Given the description of an element on the screen output the (x, y) to click on. 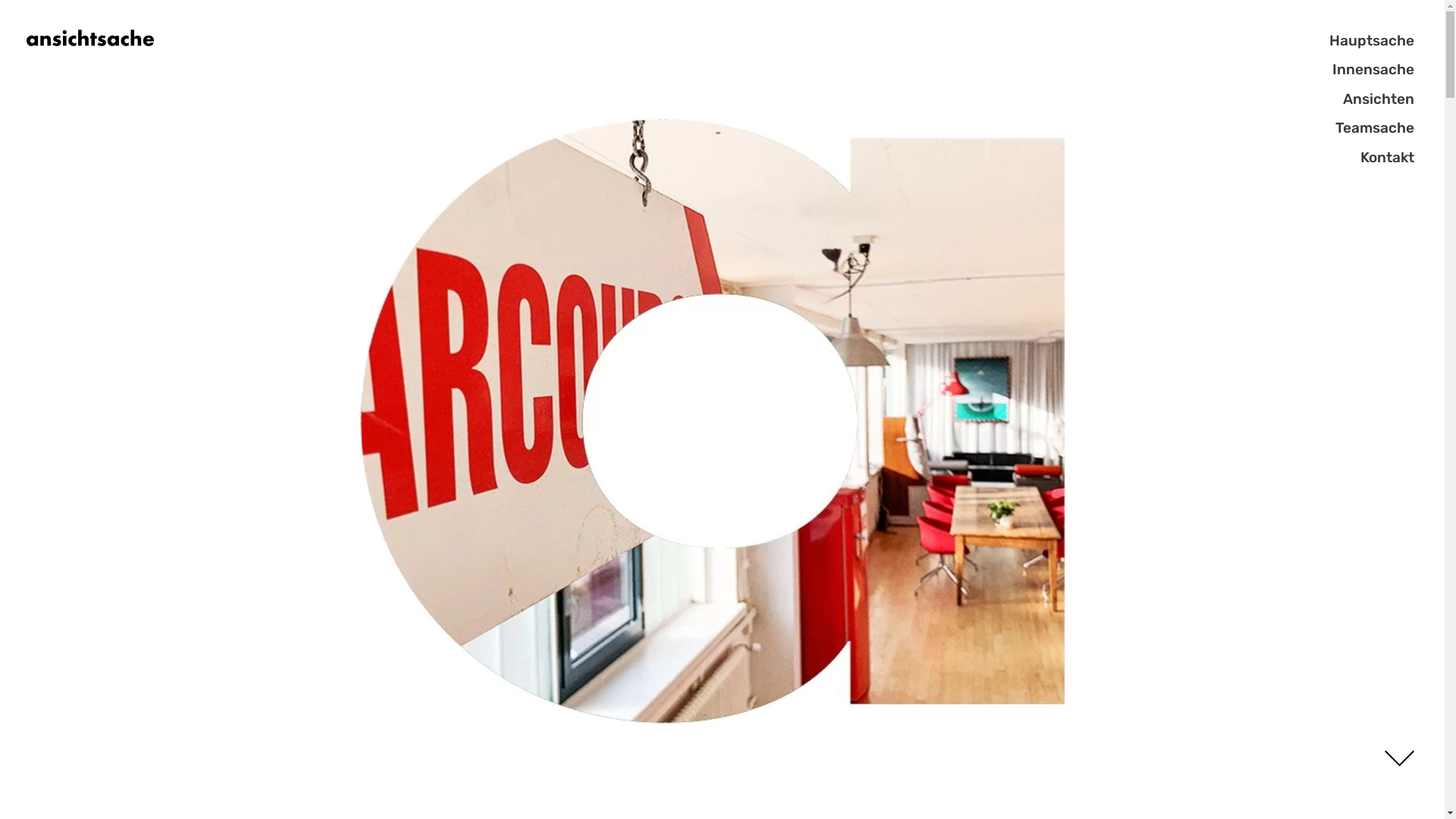
Teamsache Element type: text (1384, 127)
Innensache Element type: text (1382, 69)
Ansichten Element type: text (1388, 98)
Kontakt Element type: text (1396, 157)
Hauptsache Element type: text (1381, 40)
